Given the description of an element on the screen output the (x, y) to click on. 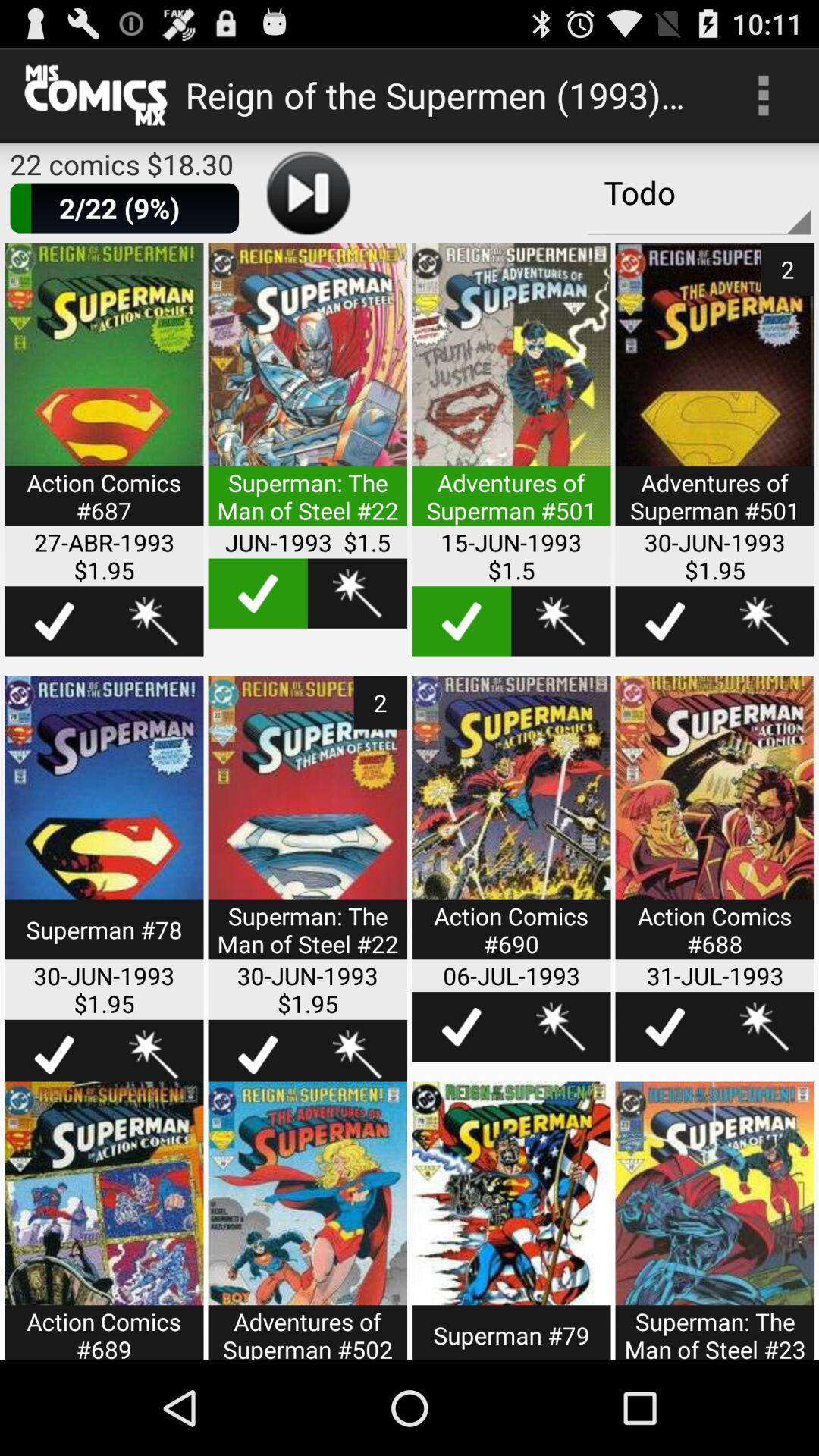
to select the particular package (103, 393)
